Given the description of an element on the screen output the (x, y) to click on. 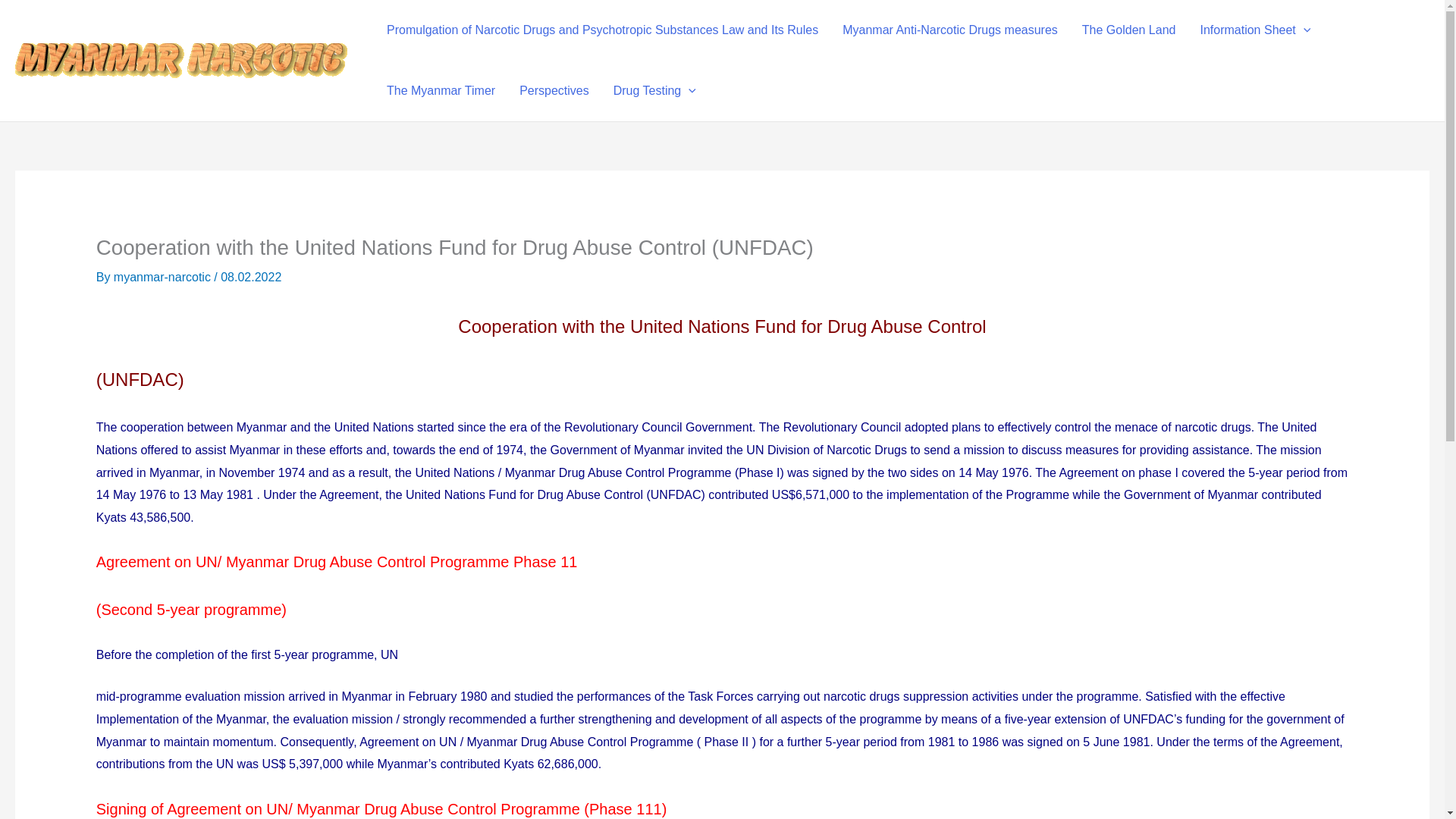
Information Sheet (1255, 30)
The Golden Land (1129, 30)
Myanmar Anti-Narcotic Drugs measures (949, 30)
View all posts by myanmar-narcotic (163, 277)
myanmar-narcotic (163, 277)
The Myanmar Timer (440, 90)
Drug Testing (654, 90)
Perspectives (553, 90)
